Given the description of an element on the screen output the (x, y) to click on. 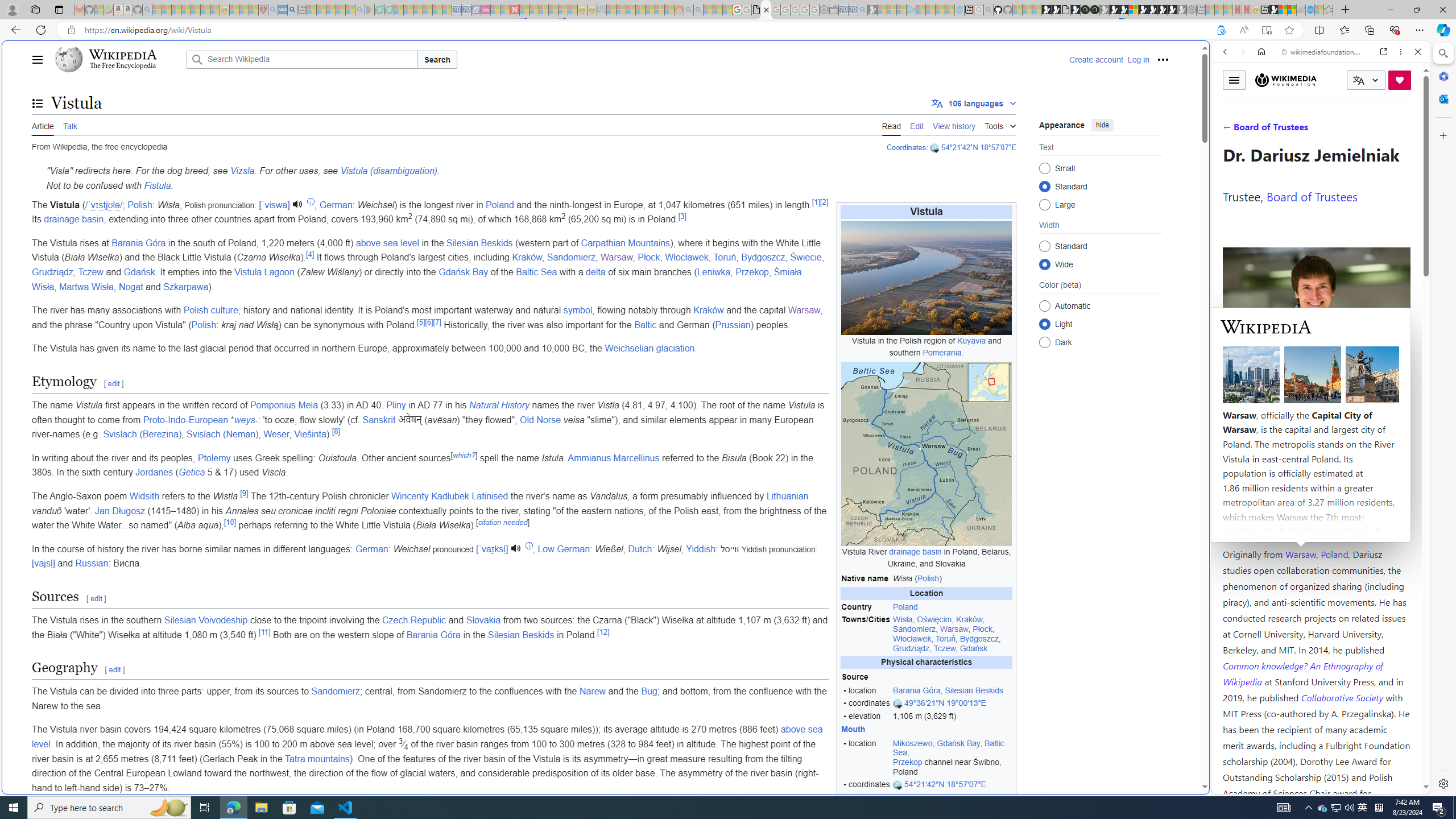
Svislach (Berezina) (142, 434)
Small (1044, 167)
Low German (563, 548)
Bydgoszcz (762, 257)
delta (595, 271)
New Report Confirms 2023 Was Record Hot | Watch - Sleeping (195, 9)
Jobs - lastminute.com Investor Portal - Sleeping (485, 9)
Class: i icon icon-translate language-switcher__icon (1358, 80)
Tabs you've opened (885, 151)
